Given the description of an element on the screen output the (x, y) to click on. 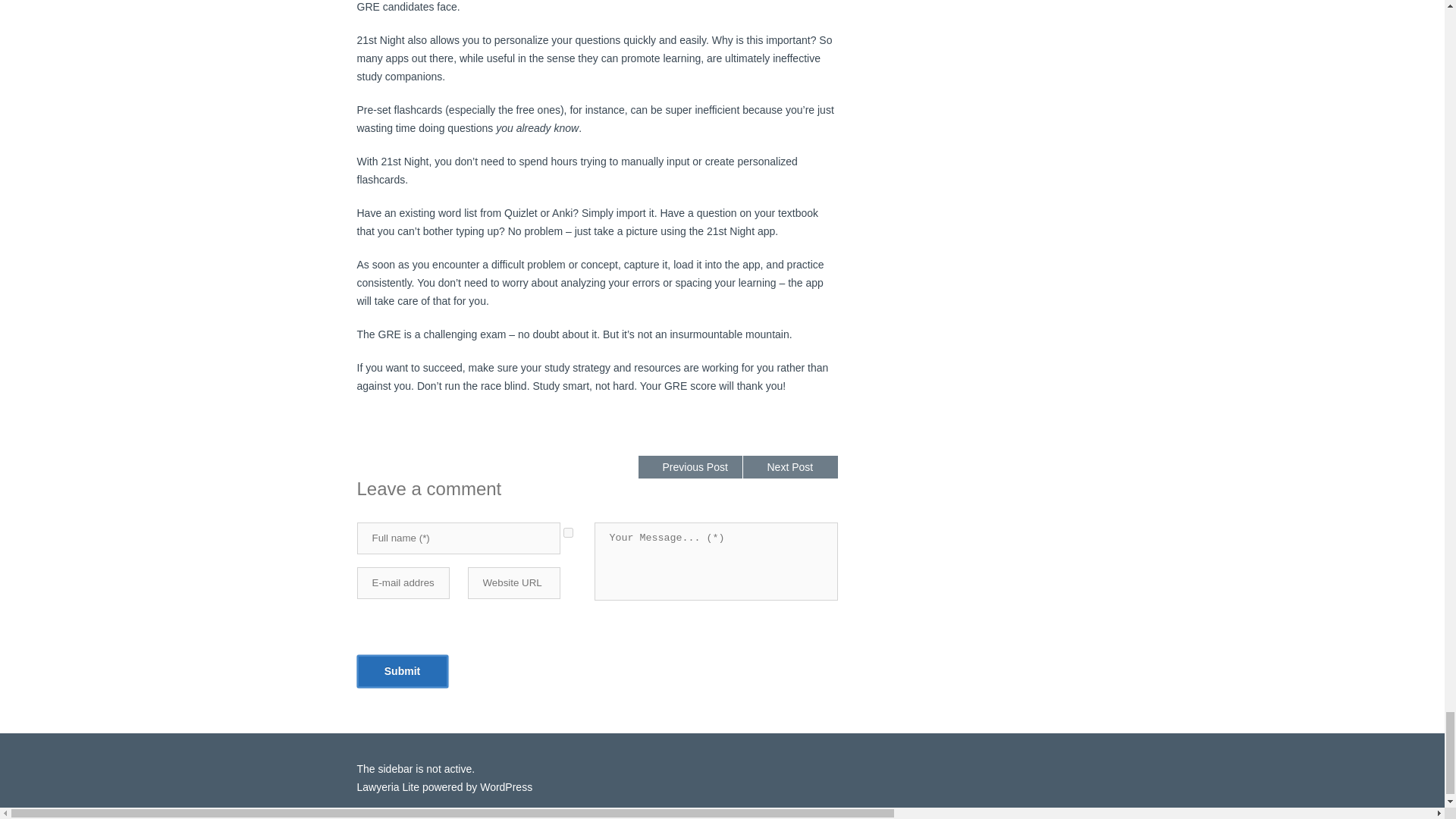
Submit (401, 671)
yes (567, 532)
